Given the description of an element on the screen output the (x, y) to click on. 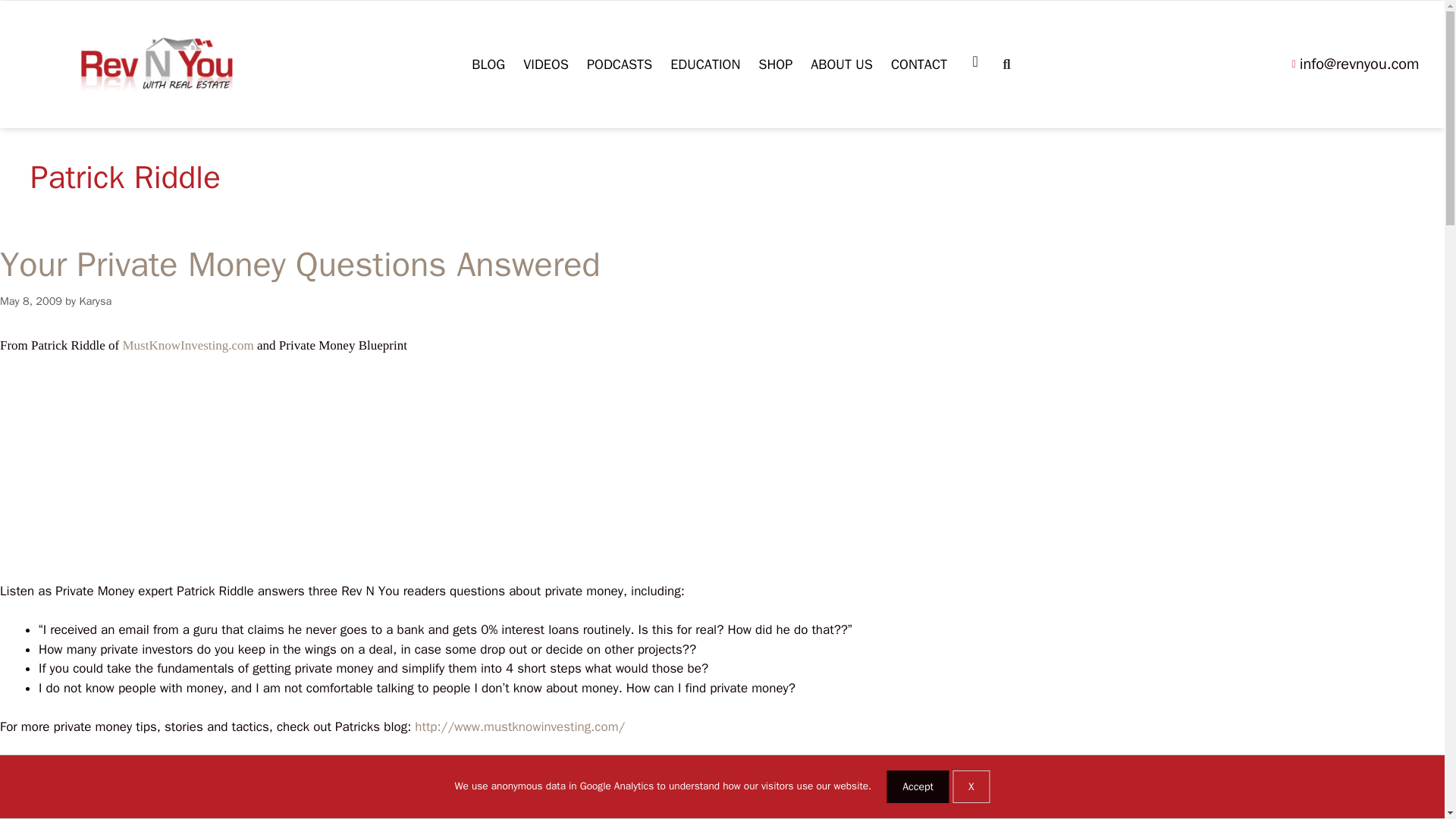
private money (121, 816)
PODCASTS (619, 64)
Money for Real Estate Deals (84, 804)
Accept (917, 786)
Real Estate Investing (282, 804)
Your Private Money Questions Answered (299, 264)
X (971, 786)
BLOG (488, 64)
SHOP (775, 64)
VIDEOS (545, 64)
